Given the description of an element on the screen output the (x, y) to click on. 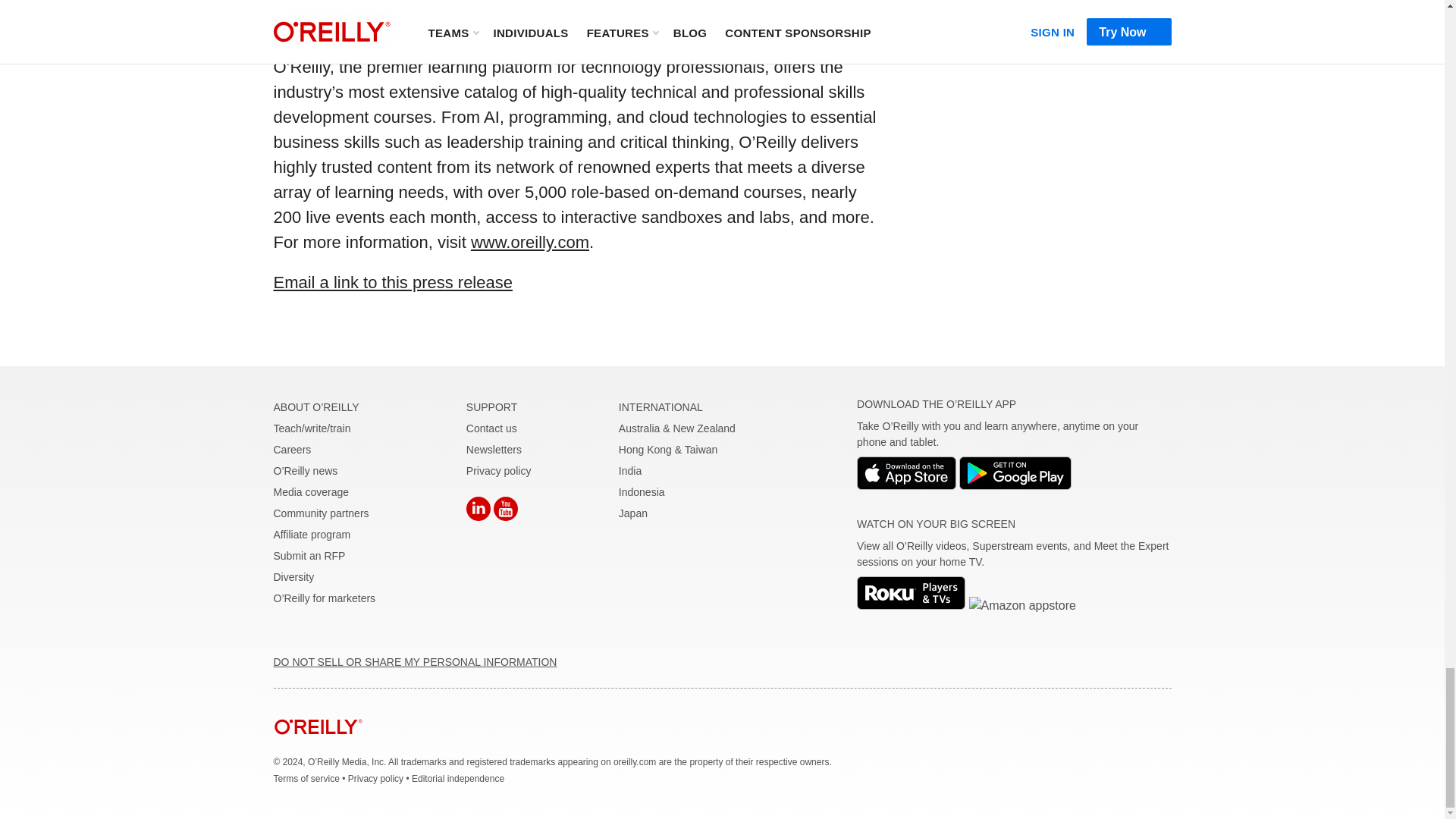
www.oreilly.com (529, 241)
Submit an RFP (309, 555)
Email a link to this press release (392, 281)
Affiliate program (311, 534)
home page (317, 745)
Community partners (320, 512)
Media coverage (311, 491)
Careers (292, 449)
